Given the description of an element on the screen output the (x, y) to click on. 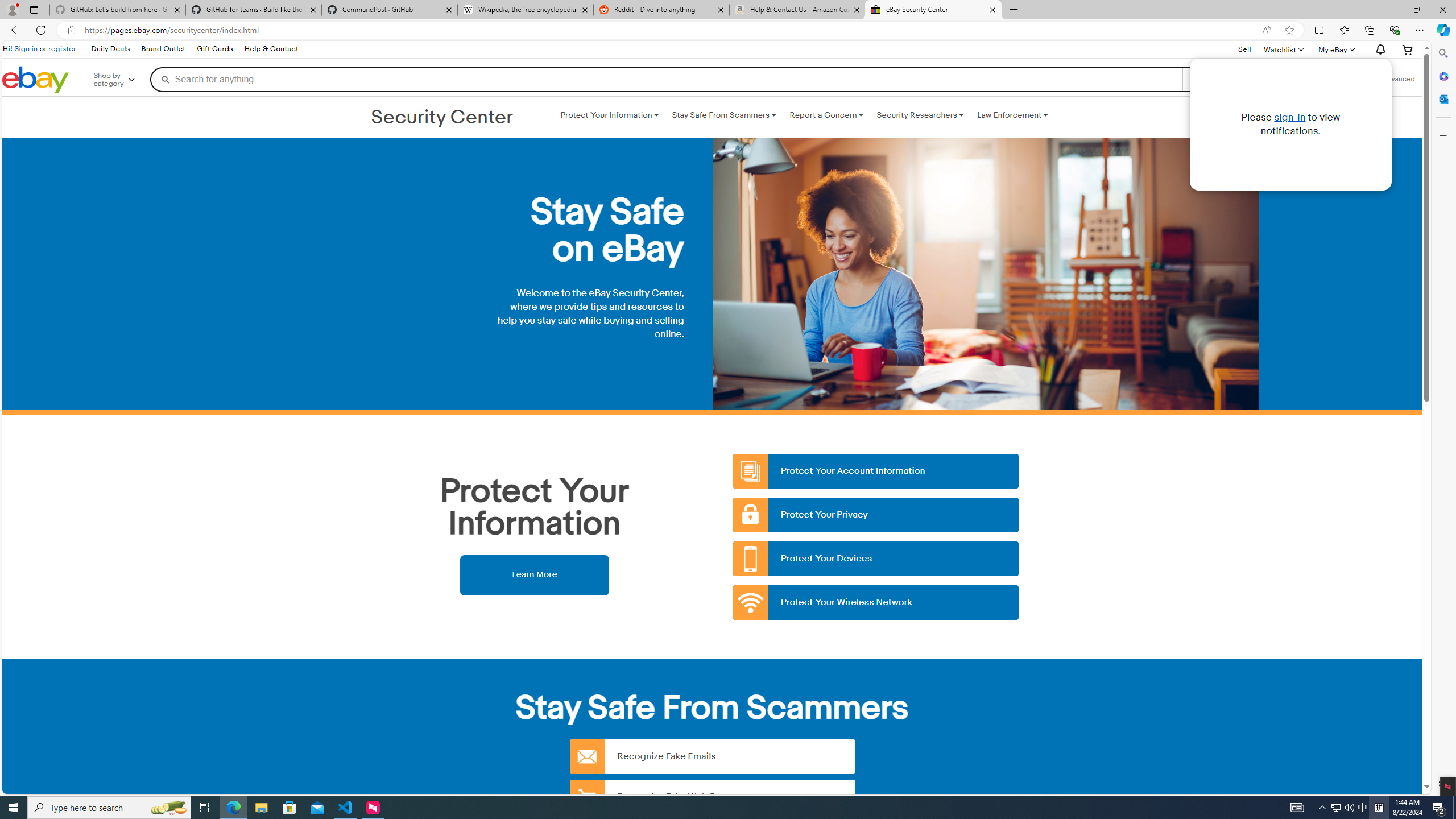
WatchlistExpand Watch List (1282, 49)
Stay Safe From Scammers  (723, 115)
Protect Your Account Information (876, 470)
Report a Concern  (826, 115)
Protect Your Information  (608, 115)
Law Enforcement  (1012, 115)
Law Enforcement  (1012, 115)
Sell (1244, 49)
Daily Deals (109, 49)
